Given the description of an element on the screen output the (x, y) to click on. 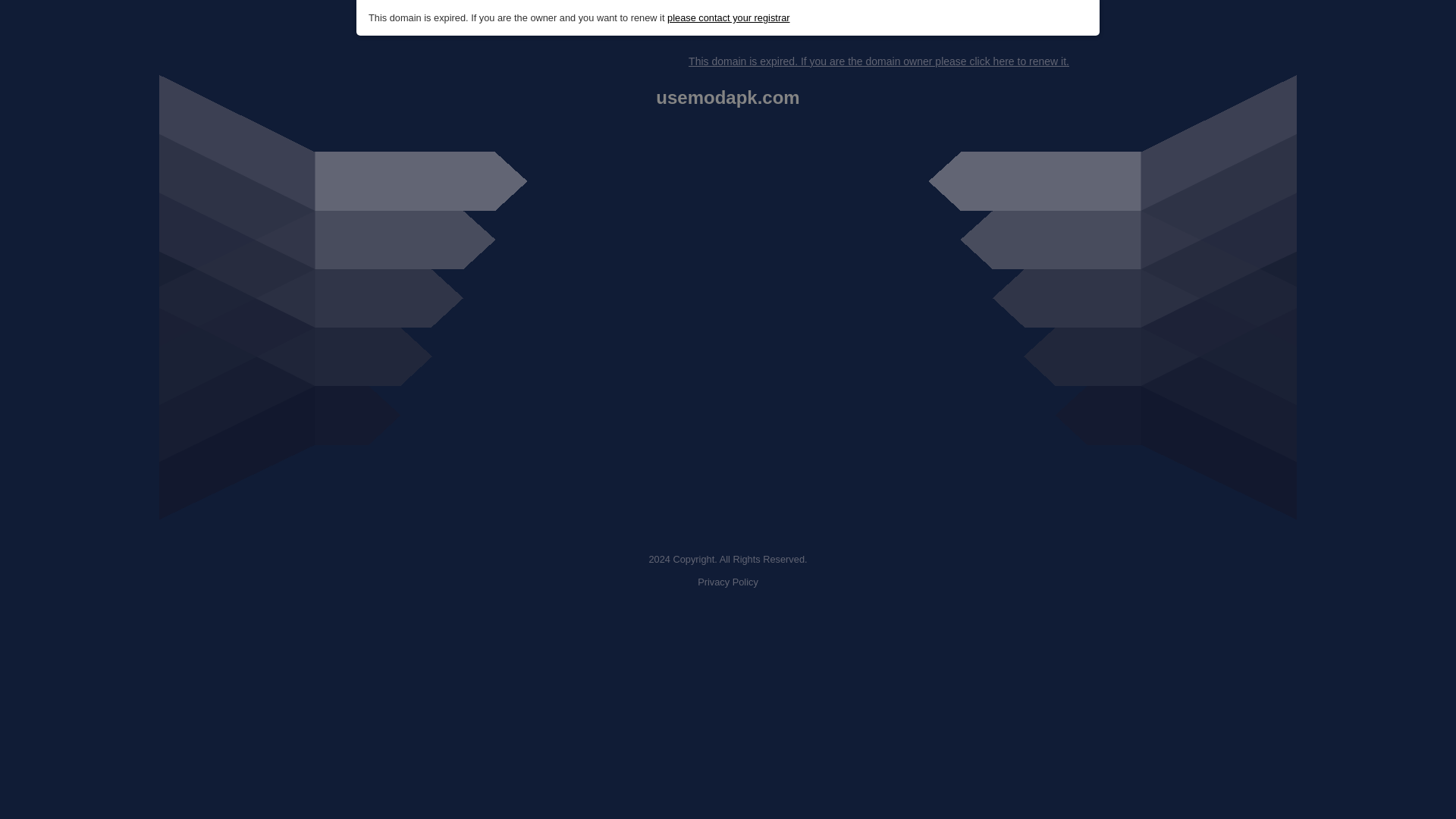
Privacy Policy (727, 582)
please contact your registrar (727, 17)
